Given the description of an element on the screen output the (x, y) to click on. 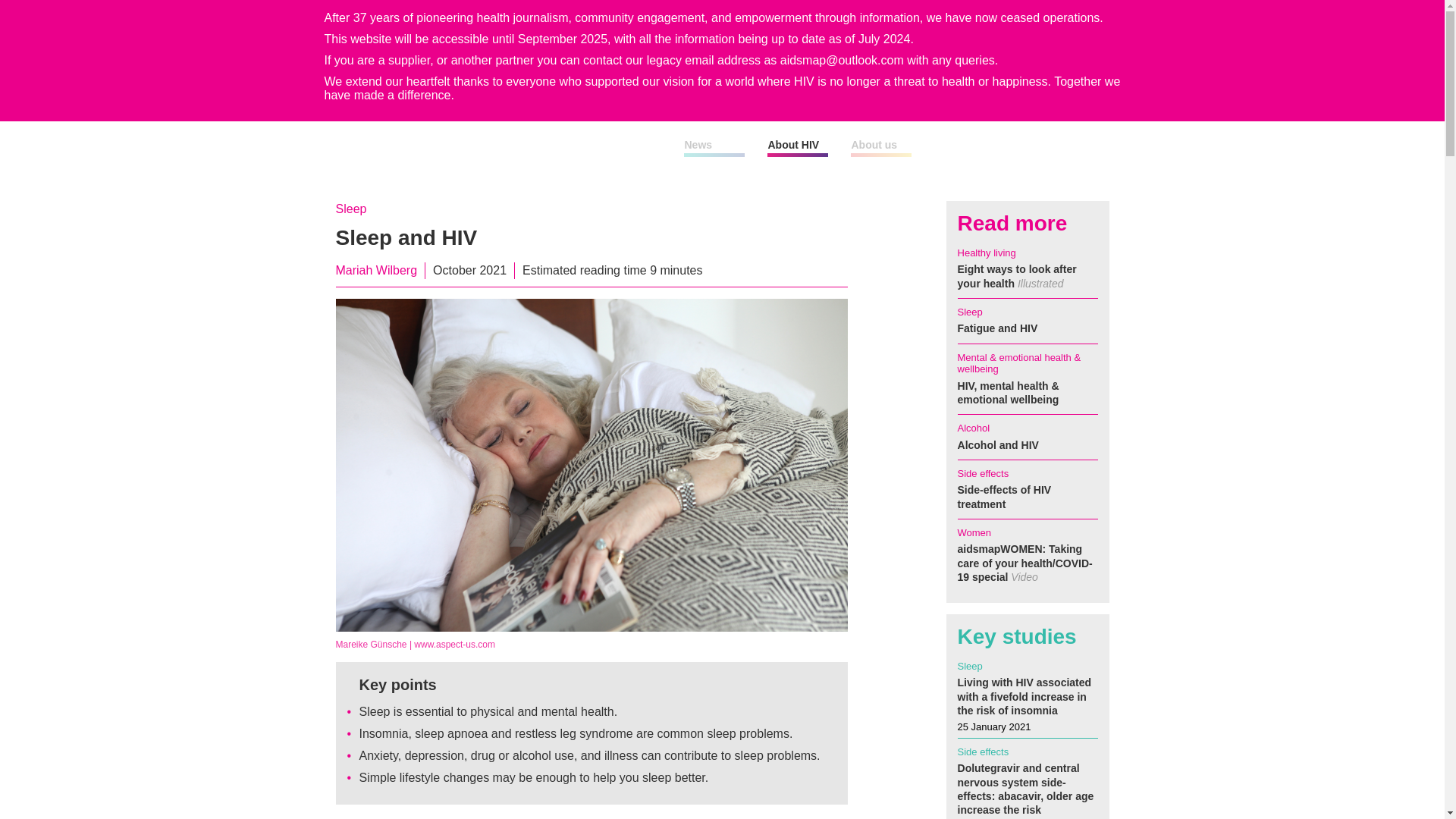
About HIV (792, 144)
Home (509, 147)
News (697, 144)
About us (873, 144)
Sleep (350, 208)
Mariah Wilberg (375, 269)
